Given the description of an element on the screen output the (x, y) to click on. 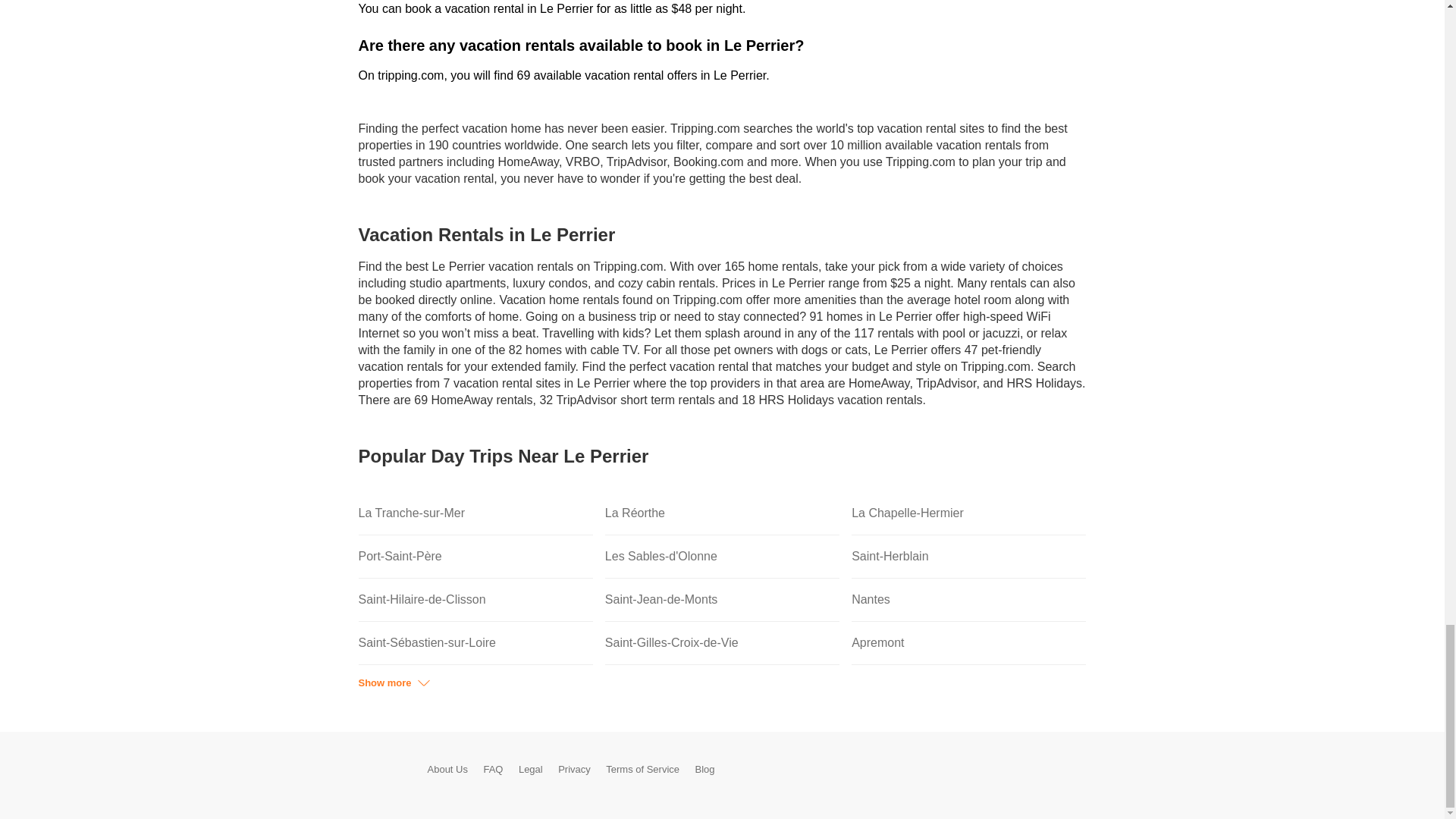
Saint-Gilles-Croix-de-Vie (722, 643)
Saint-Hilaire-de-Clisson (475, 599)
La Chapelle-Hermier (968, 513)
Saint-Hilaire-de-Clisson (475, 599)
Les Sables-d'Olonne (722, 556)
Nantes (968, 599)
Nantes (968, 599)
Saint-Herblain (968, 556)
La Tranche-sur-Mer (475, 513)
Saint-Herblain (968, 556)
Apremont (968, 643)
Saint-Jean-de-Monts (722, 599)
Saint-Jean-de-Monts (722, 599)
La Chapelle-Hermier (968, 513)
Les Sables-d'Olonne (722, 556)
